Given the description of an element on the screen output the (x, y) to click on. 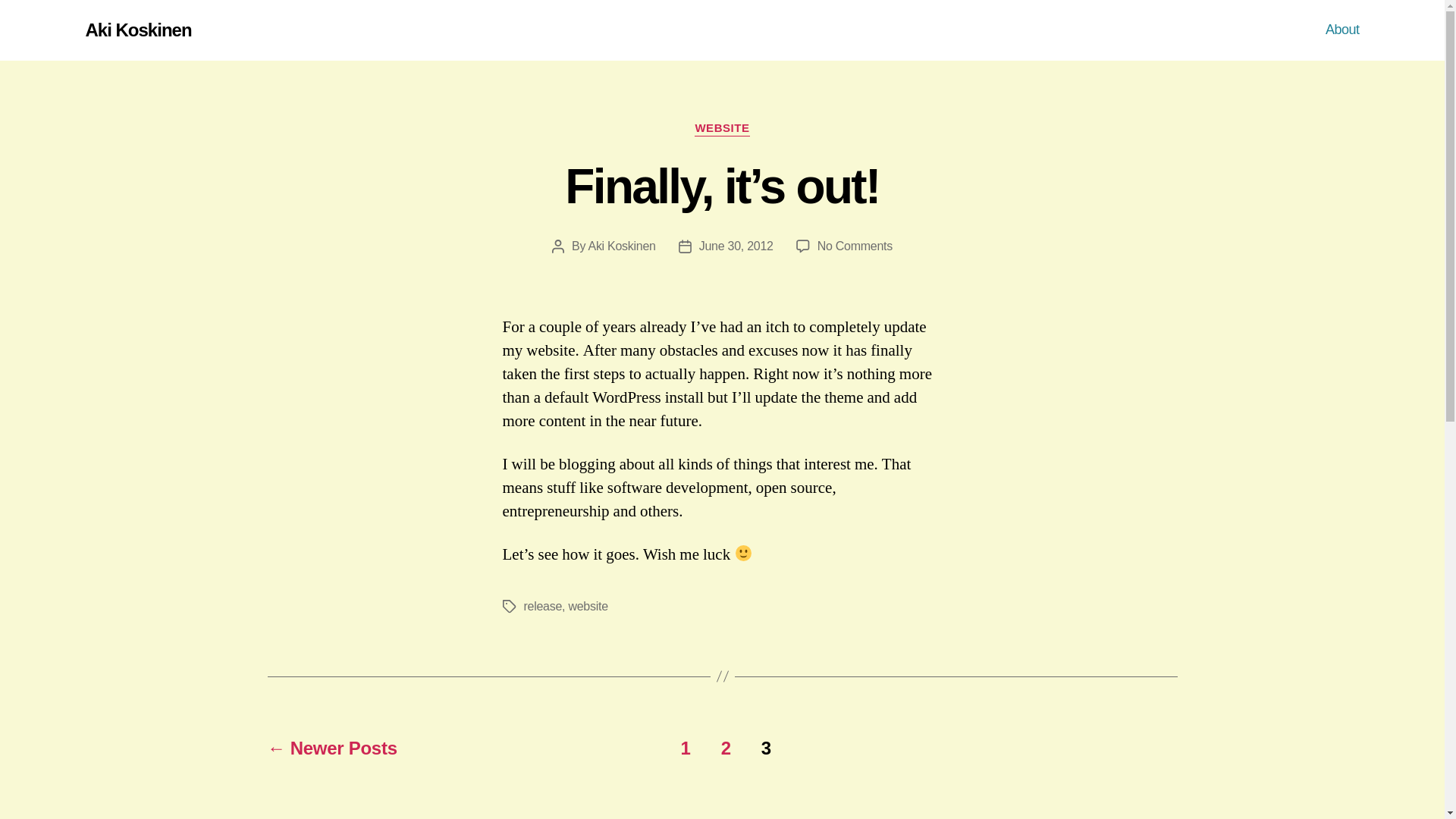
release (542, 605)
Aki Koskinen (137, 30)
Aki Koskinen (621, 245)
WEBSITE (721, 128)
website (587, 605)
About (1341, 30)
June 30, 2012 (735, 245)
